Given the description of an element on the screen output the (x, y) to click on. 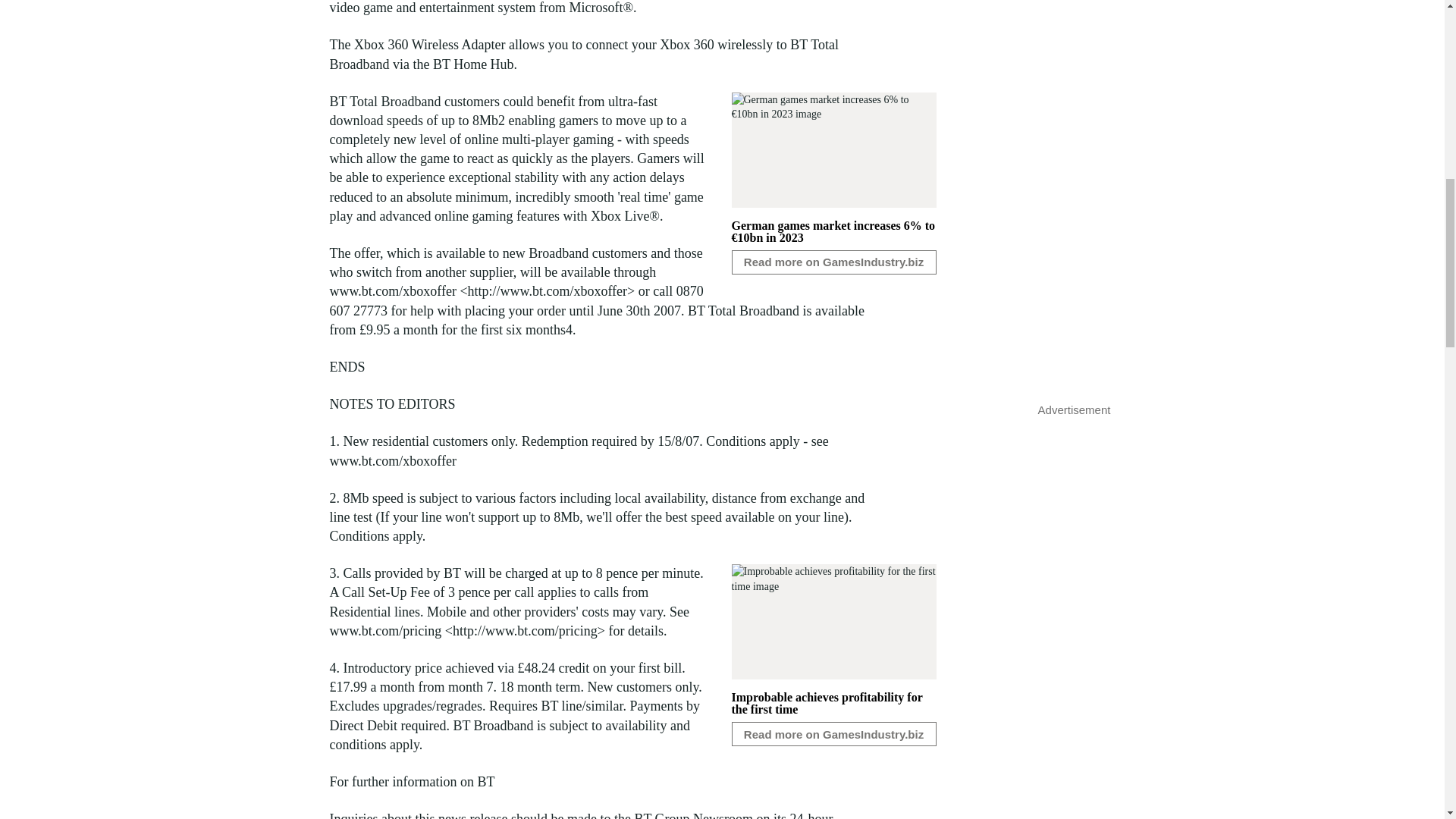
Read more on GamesIndustry.biz (833, 262)
Improbable achieves profitability for the first time (825, 703)
Read more on GamesIndustry.biz (833, 733)
